Given the description of an element on the screen output the (x, y) to click on. 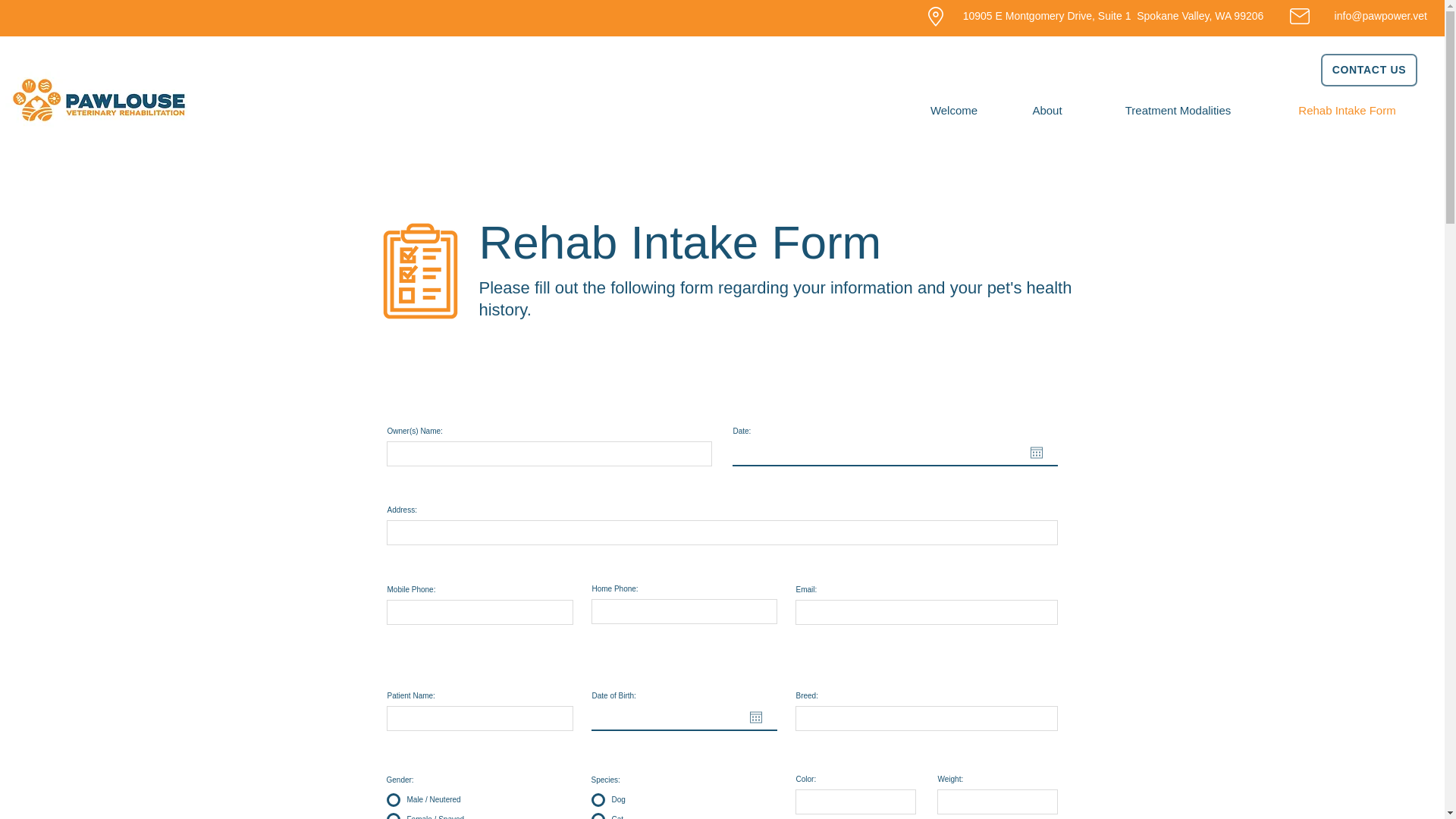
About (1047, 110)
Rehab Intake Form (1346, 110)
ORANGE-ICON-14.png (420, 271)
Welcome (954, 110)
Treatment Modalities (1177, 110)
CONTACT US (1368, 70)
